Given the description of an element on the screen output the (x, y) to click on. 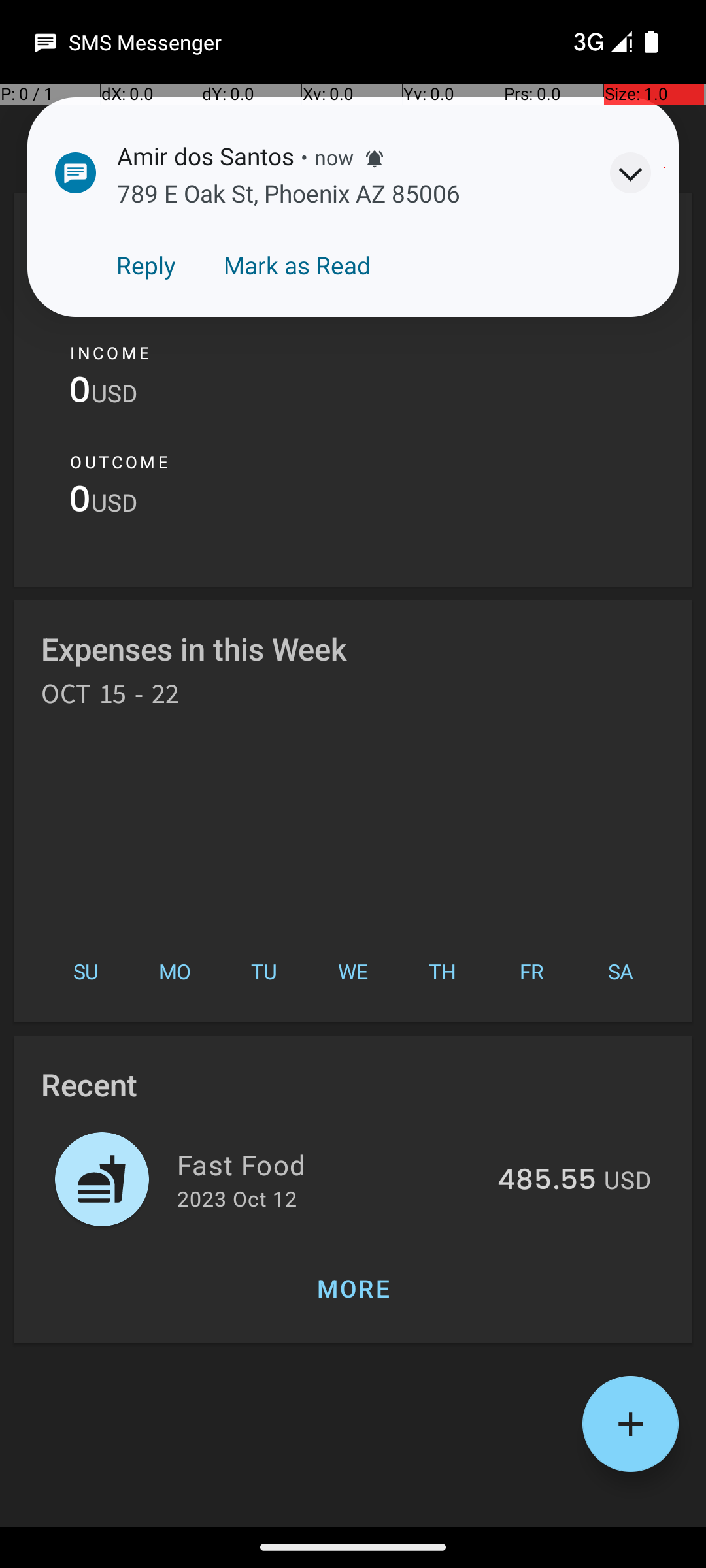
Fast Food Element type: android.widget.TextView (329, 1164)
485.55 Element type: android.widget.TextView (546, 1180)
789 E Oak St, Phoenix AZ 85006 Element type: android.widget.TextView (288, 192)
Reply Element type: android.widget.Button (146, 265)
Mark as Read Element type: android.widget.Button (296, 265)
Amir dos Santos Element type: android.widget.TextView (205, 155)
